Given the description of an element on the screen output the (x, y) to click on. 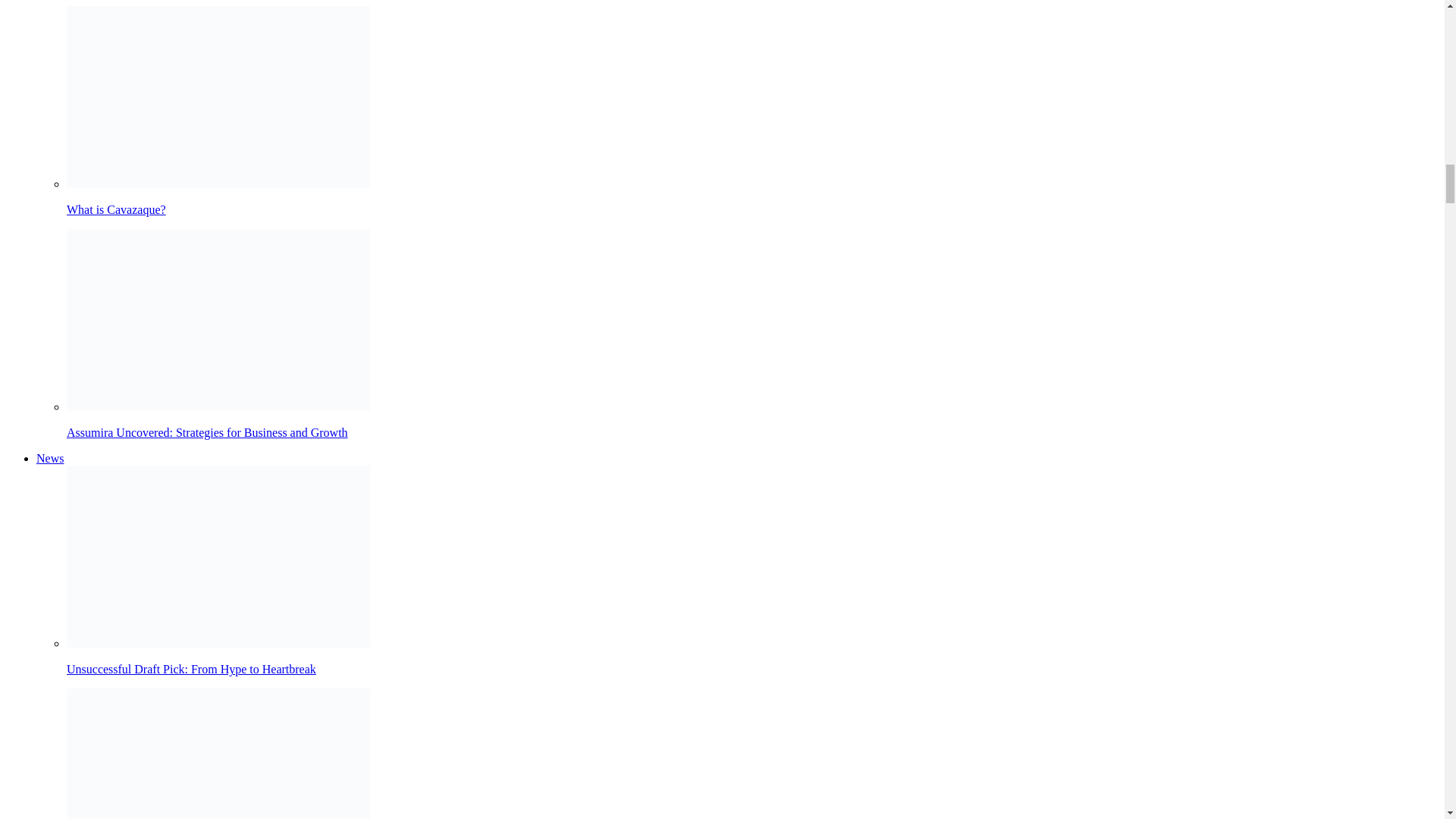
News (50, 458)
